Given the description of an element on the screen output the (x, y) to click on. 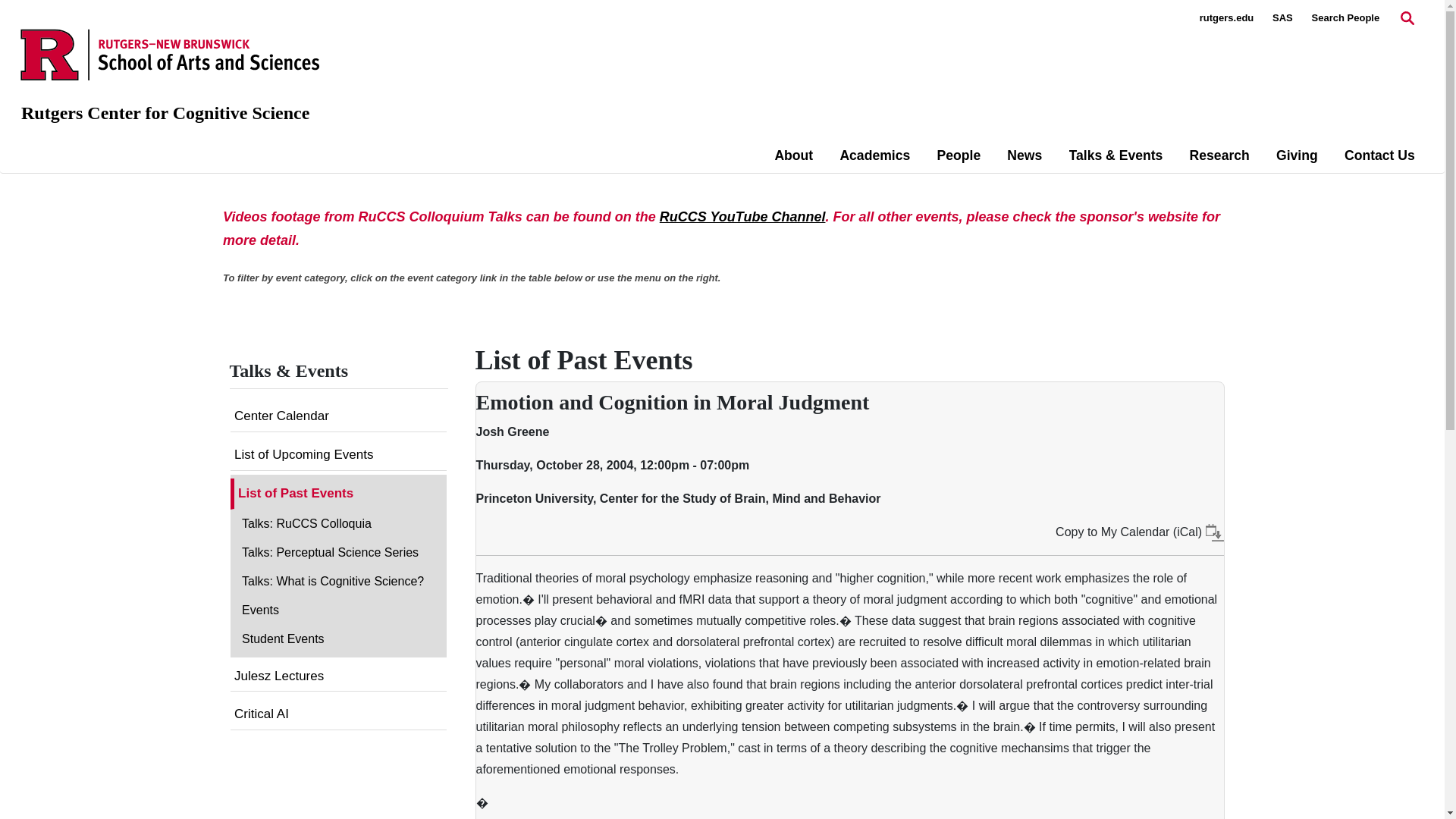
Search People (1345, 17)
Rutgers Center for Cognitive Science (164, 112)
People (957, 155)
About (793, 155)
Research (1219, 155)
News (1024, 155)
rutgers.edu (1226, 17)
Academics (875, 155)
Download as iCal file (1214, 531)
